Given the description of an element on the screen output the (x, y) to click on. 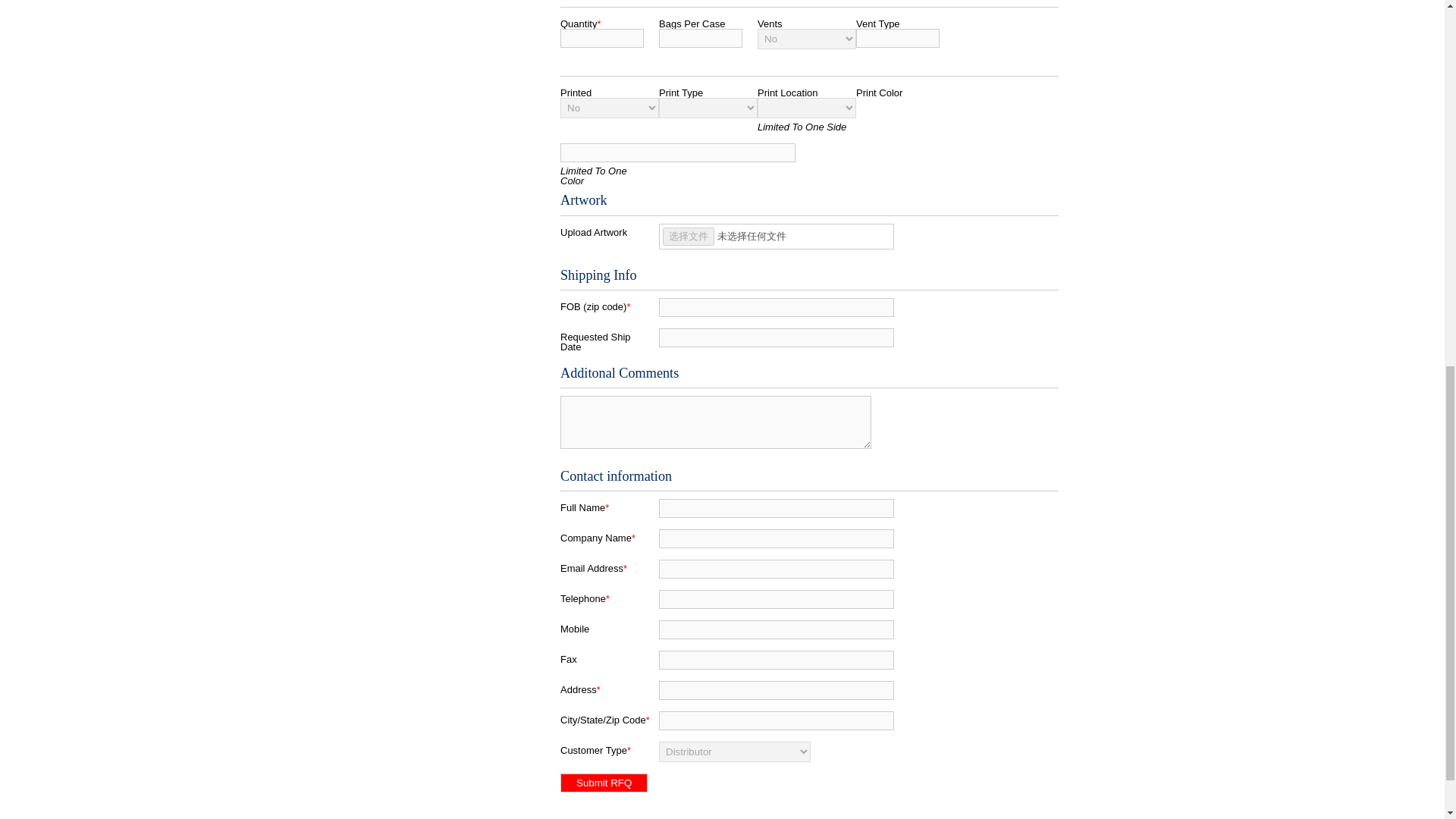
Submit RFQ (603, 782)
Submit RFQ (603, 782)
